Given the description of an element on the screen output the (x, y) to click on. 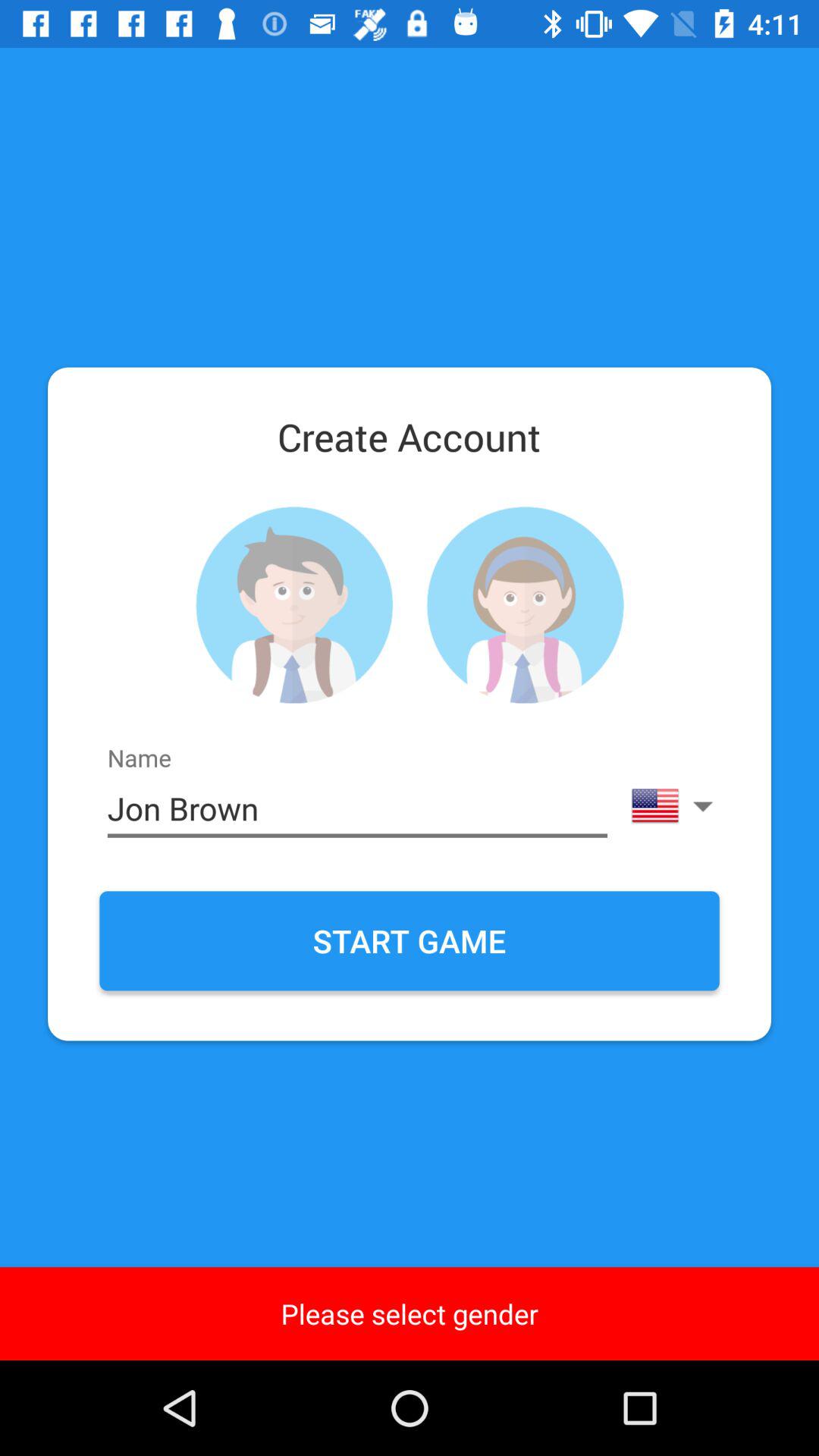
contaket (524, 605)
